Given the description of an element on the screen output the (x, y) to click on. 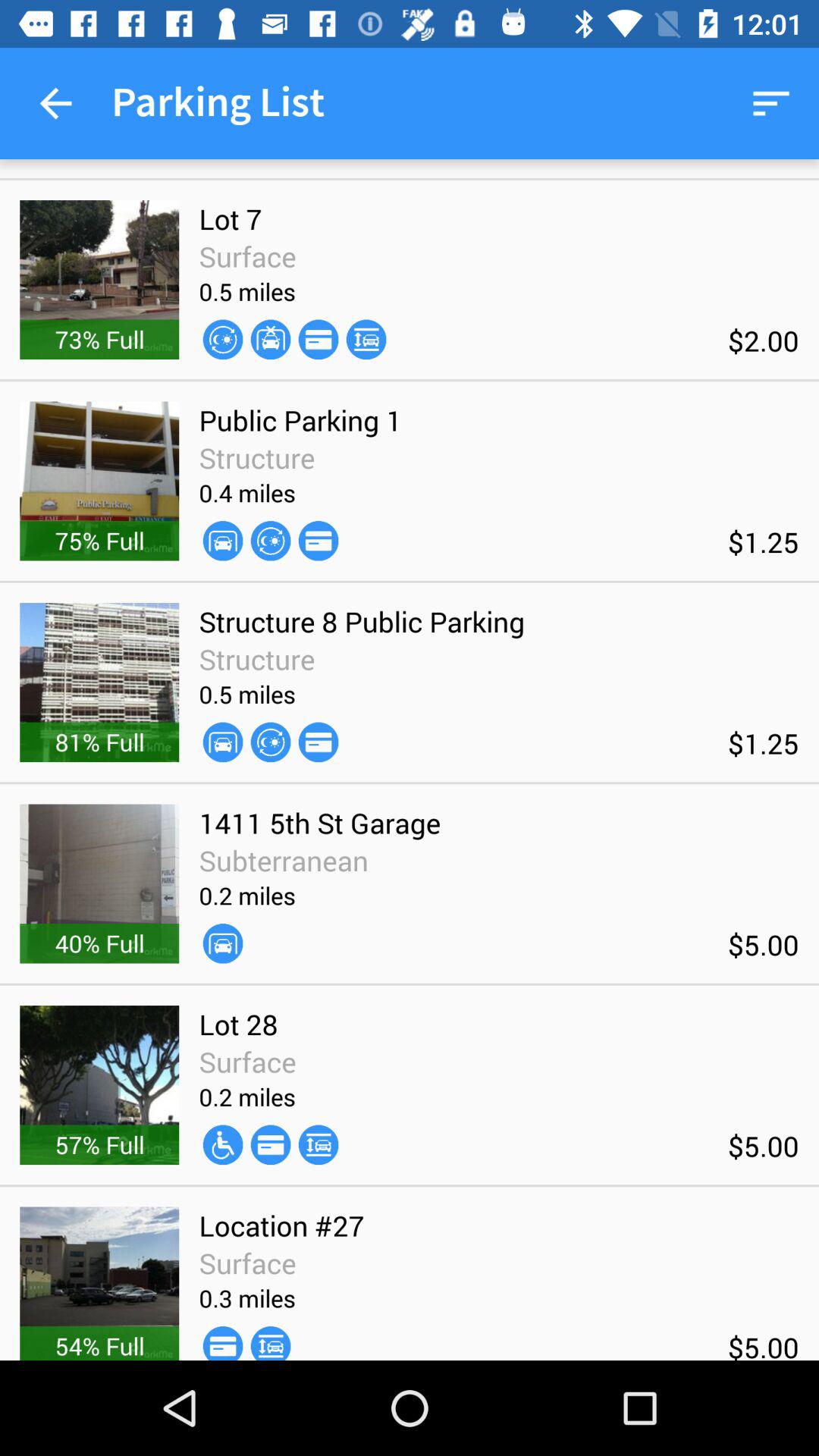
click the item above the location #27 icon (222, 1144)
